Given the description of an element on the screen output the (x, y) to click on. 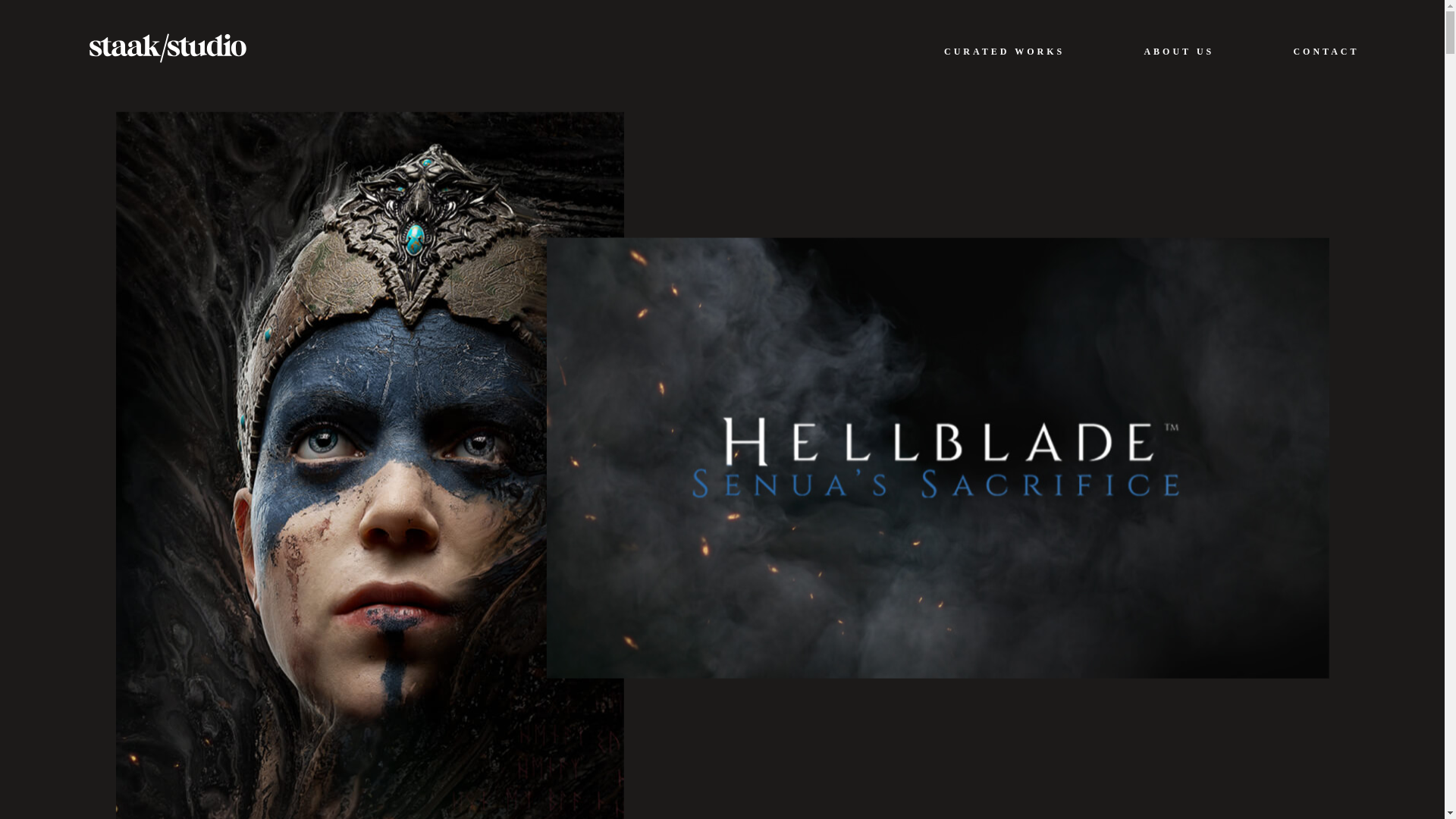
Twitter (339, 678)
Instagram (279, 678)
ABOUT US (1178, 50)
Medium (400, 678)
CONTACT (1325, 50)
STAAK STUDIO (166, 47)
CURATED WORKS (1003, 50)
